Given the description of an element on the screen output the (x, y) to click on. 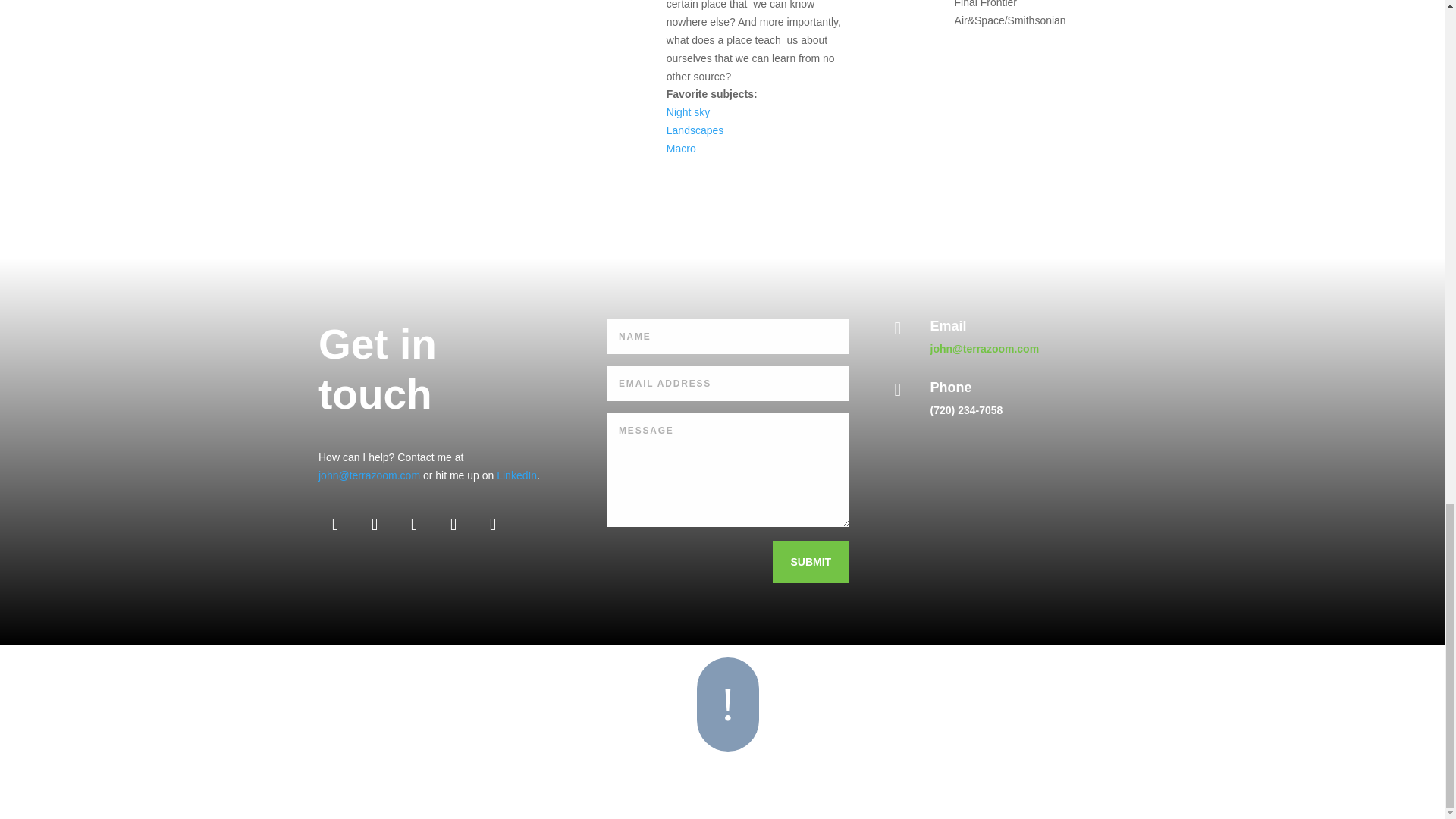
SUBMIT (809, 562)
Follow on Instagram (413, 524)
LinkedIn (515, 475)
Macro (680, 148)
Landscapes (694, 130)
Follow on GitHub (453, 524)
Follow on LinkedIn (335, 524)
Follow on Flickr (374, 524)
Follow on X (492, 524)
Night sky (688, 111)
